Given the description of an element on the screen output the (x, y) to click on. 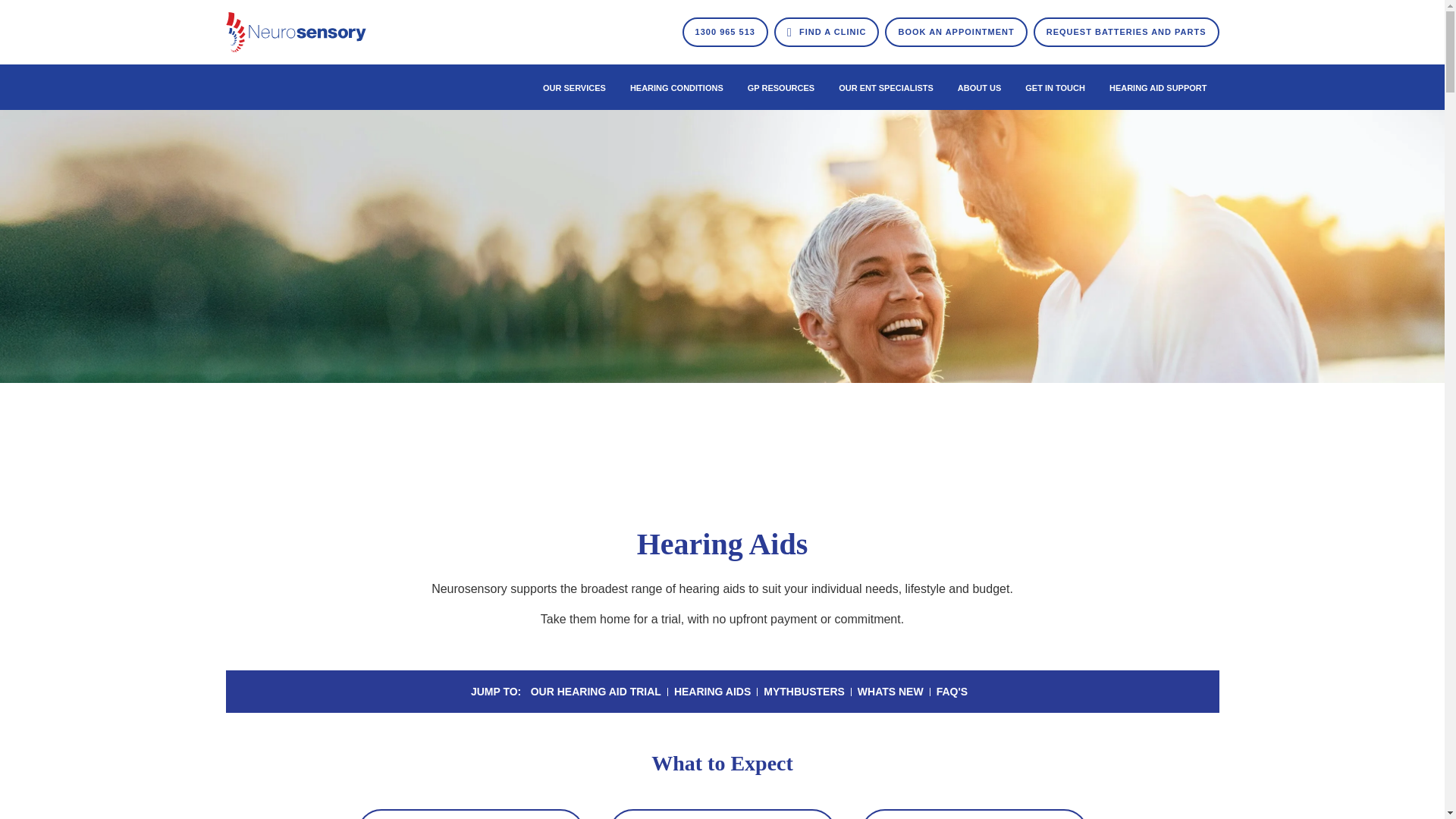
MYTHBUSTERS Element type: text (803, 691)
OUR HEARING AID TRIAL Element type: text (595, 691)
REQUEST BATTERIES AND PARTS Element type: text (1126, 32)
HEARING AID SUPPORT Element type: text (1158, 87)
OUR SERVICES Element type: text (573, 87)
HEARING AIDS Element type: text (712, 691)
BOOK AN APPOINTMENT Element type: text (955, 32)
ABOUT US Element type: text (979, 87)
GP RESOURCES Element type: text (780, 87)
1300 965 513 Element type: text (725, 32)
WHATS NEW Element type: text (890, 691)
FIND A CLINIC Element type: text (826, 32)
HEARING CONDITIONS Element type: text (676, 87)
OUR ENT SPECIALISTS Element type: text (885, 87)
GET IN TOUCH Element type: text (1055, 87)
FAQ'S Element type: text (951, 691)
